Given the description of an element on the screen output the (x, y) to click on. 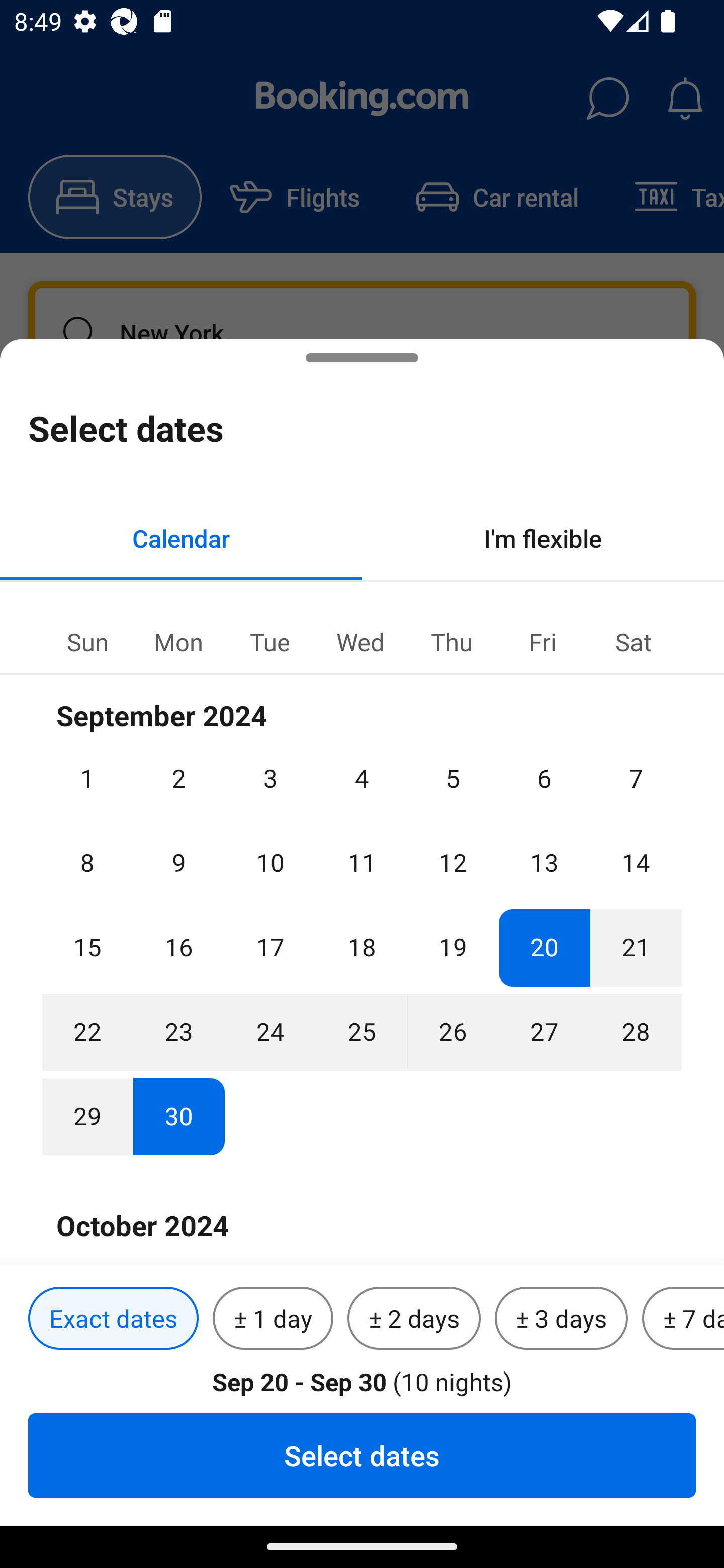
I'm flexible (543, 537)
Exact dates (113, 1318)
± 1 day (272, 1318)
± 2 days (413, 1318)
± 3 days (560, 1318)
± 7 days (683, 1318)
Select dates (361, 1454)
